Given the description of an element on the screen output the (x, y) to click on. 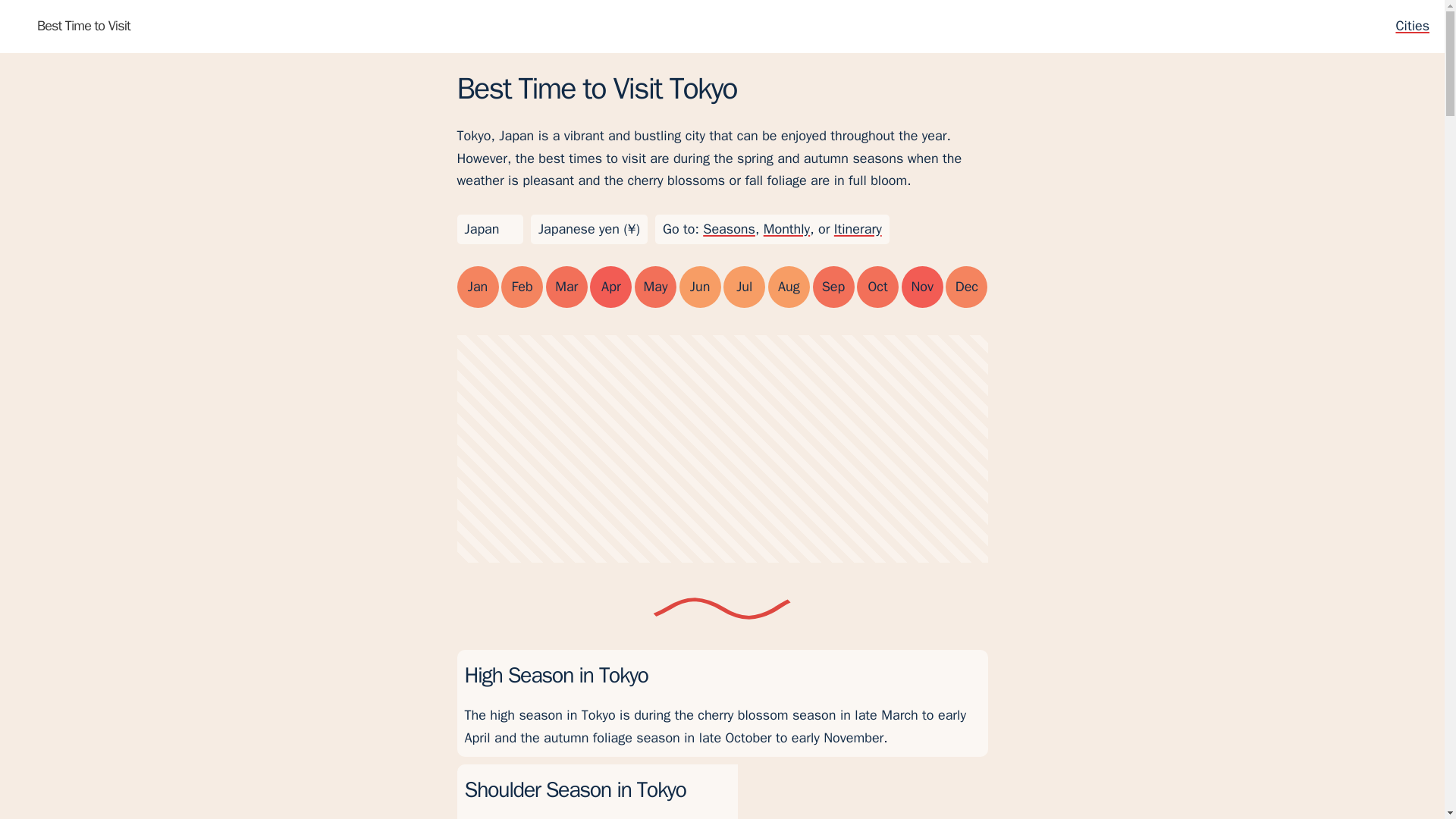
Itinerary (858, 228)
Cities (1411, 26)
Monthly (785, 228)
Seasons (729, 228)
  Best Time to Visit (72, 26)
